Given the description of an element on the screen output the (x, y) to click on. 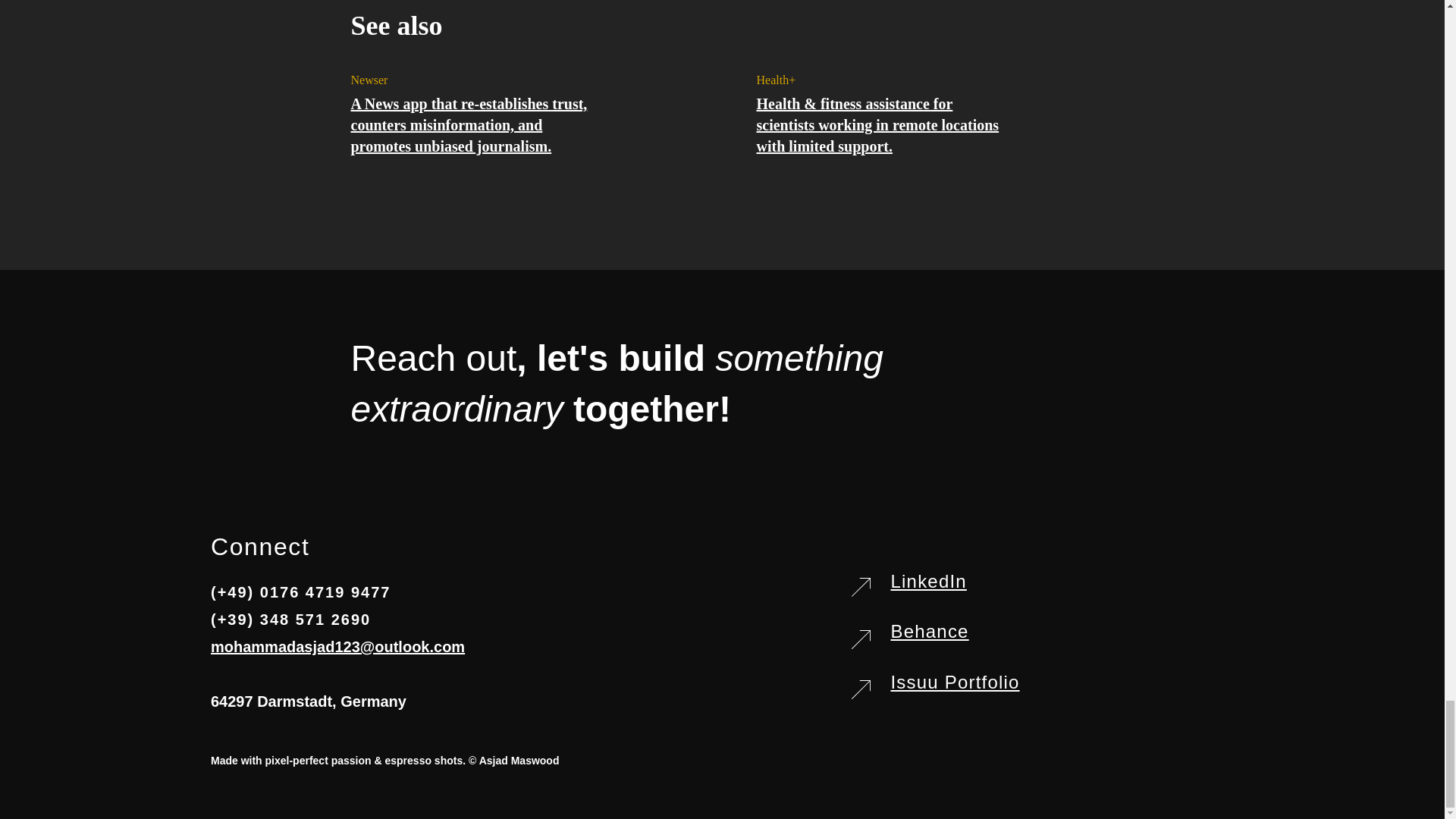
Behance (928, 630)
Issuu Portfolio (954, 681)
LinkedIn (927, 580)
